Given the description of an element on the screen output the (x, y) to click on. 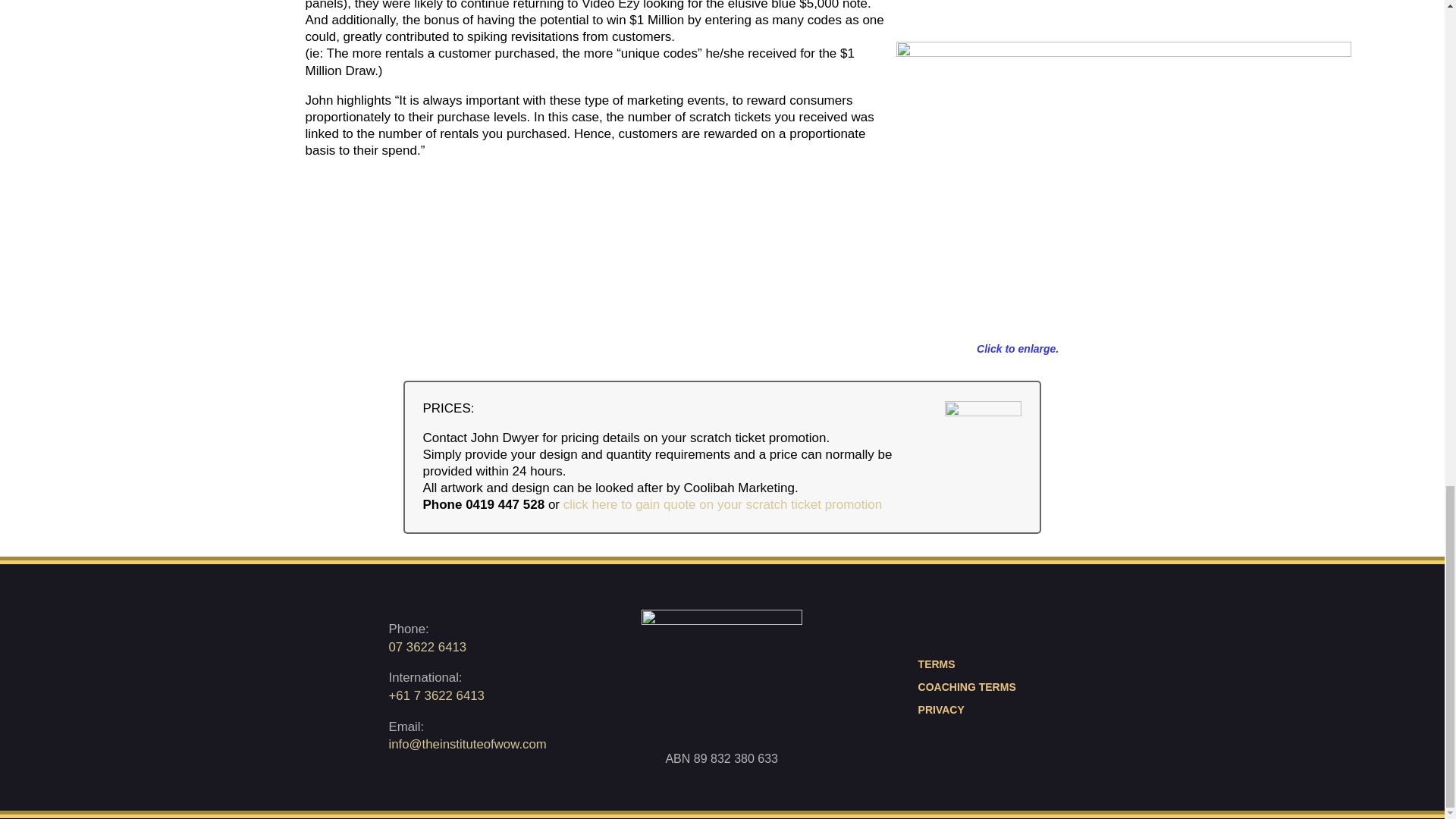
click here to gain quote on your scratch ticket promotion (722, 504)
TERMS (979, 663)
07 3622 6413 (426, 646)
PRIVACY (979, 709)
COACHING TERMS (979, 686)
